Given the description of an element on the screen output the (x, y) to click on. 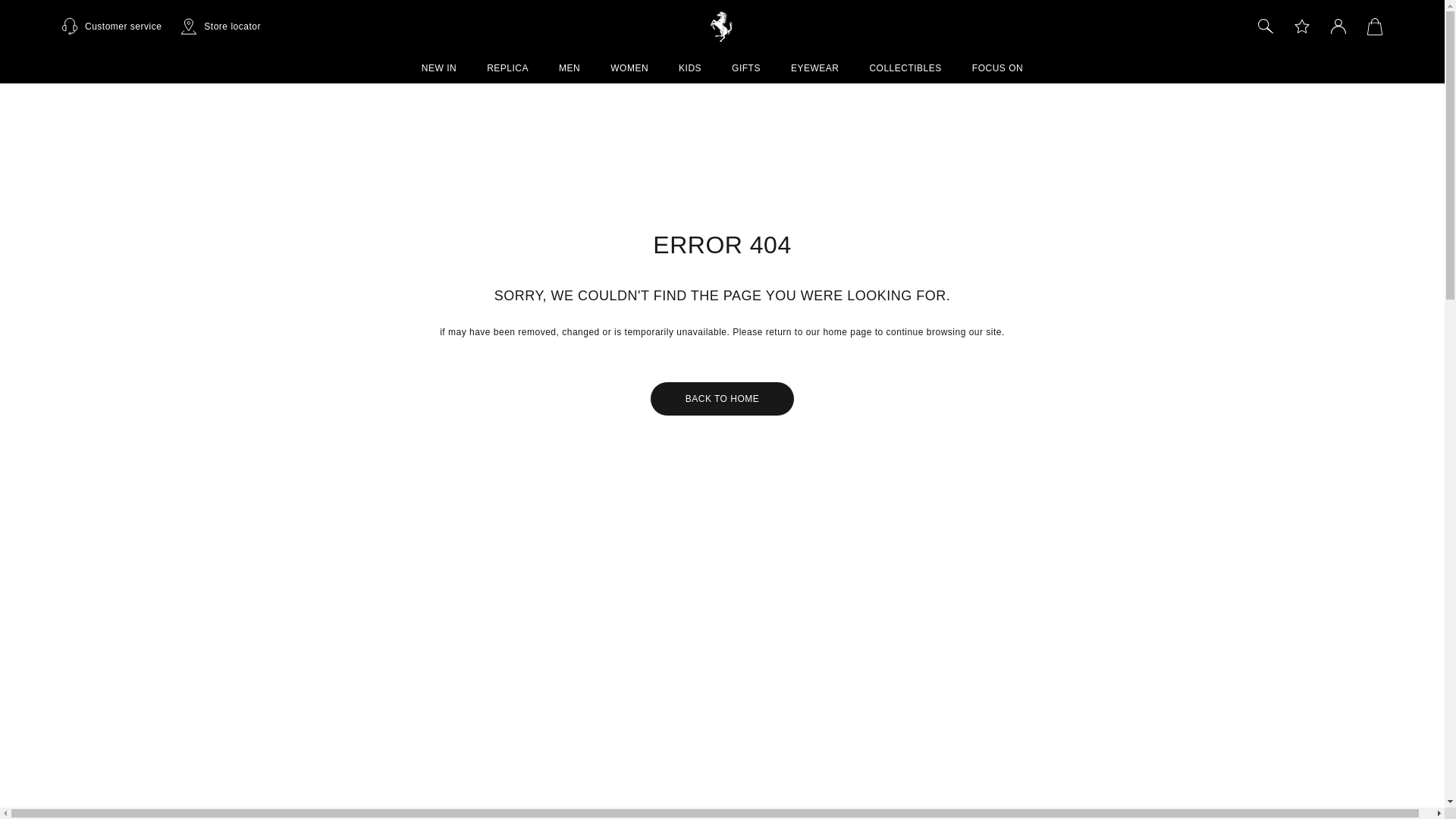
Store locator (219, 26)
REPLICA (507, 68)
Customer service (111, 26)
NEW IN (439, 68)
